Given the description of an element on the screen output the (x, y) to click on. 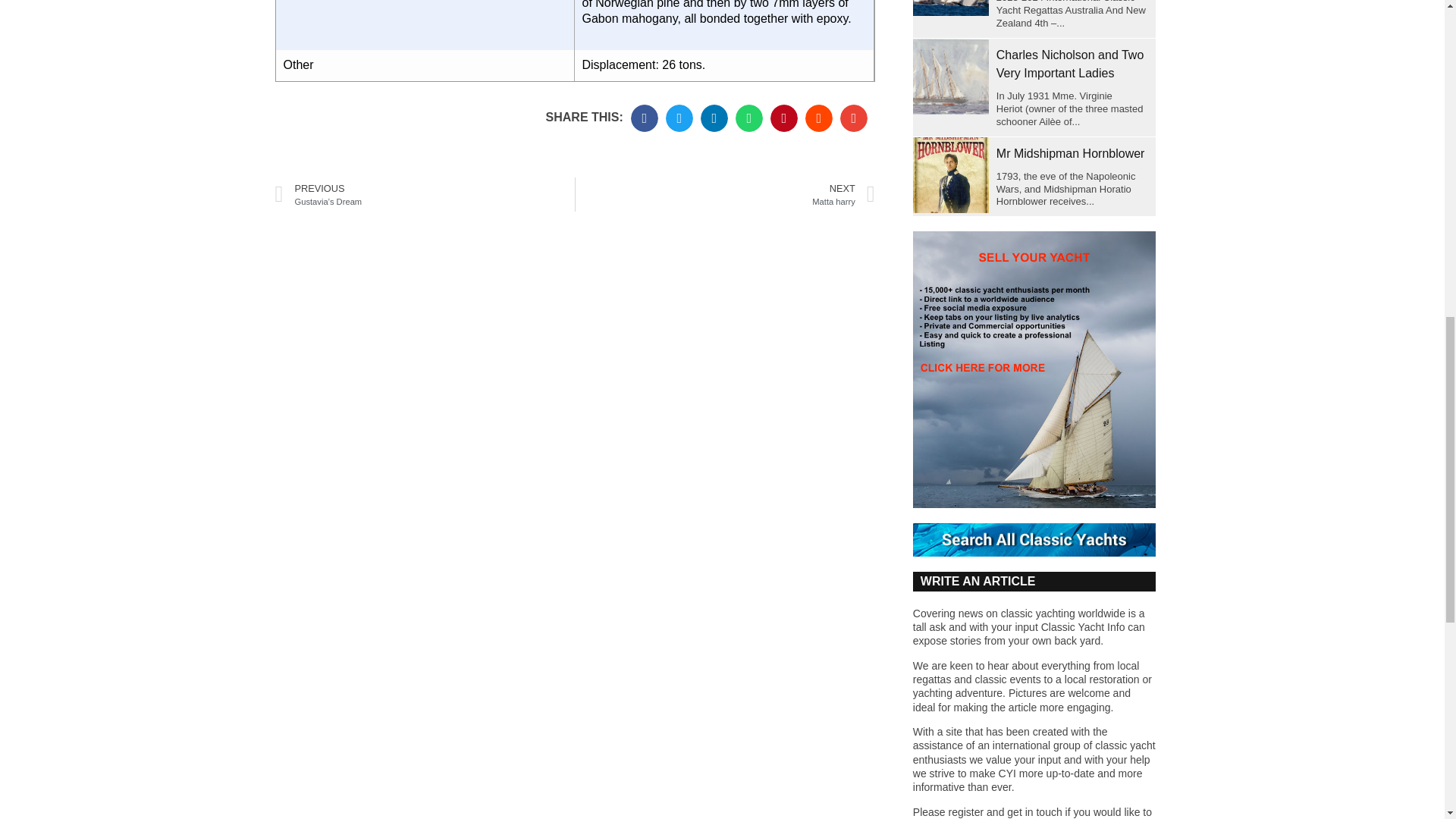
Charles Nicholson and Two Very Important Ladies (950, 76)
Classic Yacht Regattas 2024 (950, 7)
Charles Nicholson and Two Very Important Ladies (1068, 63)
Mr Midshipman Hornblower (950, 174)
